Given the description of an element on the screen output the (x, y) to click on. 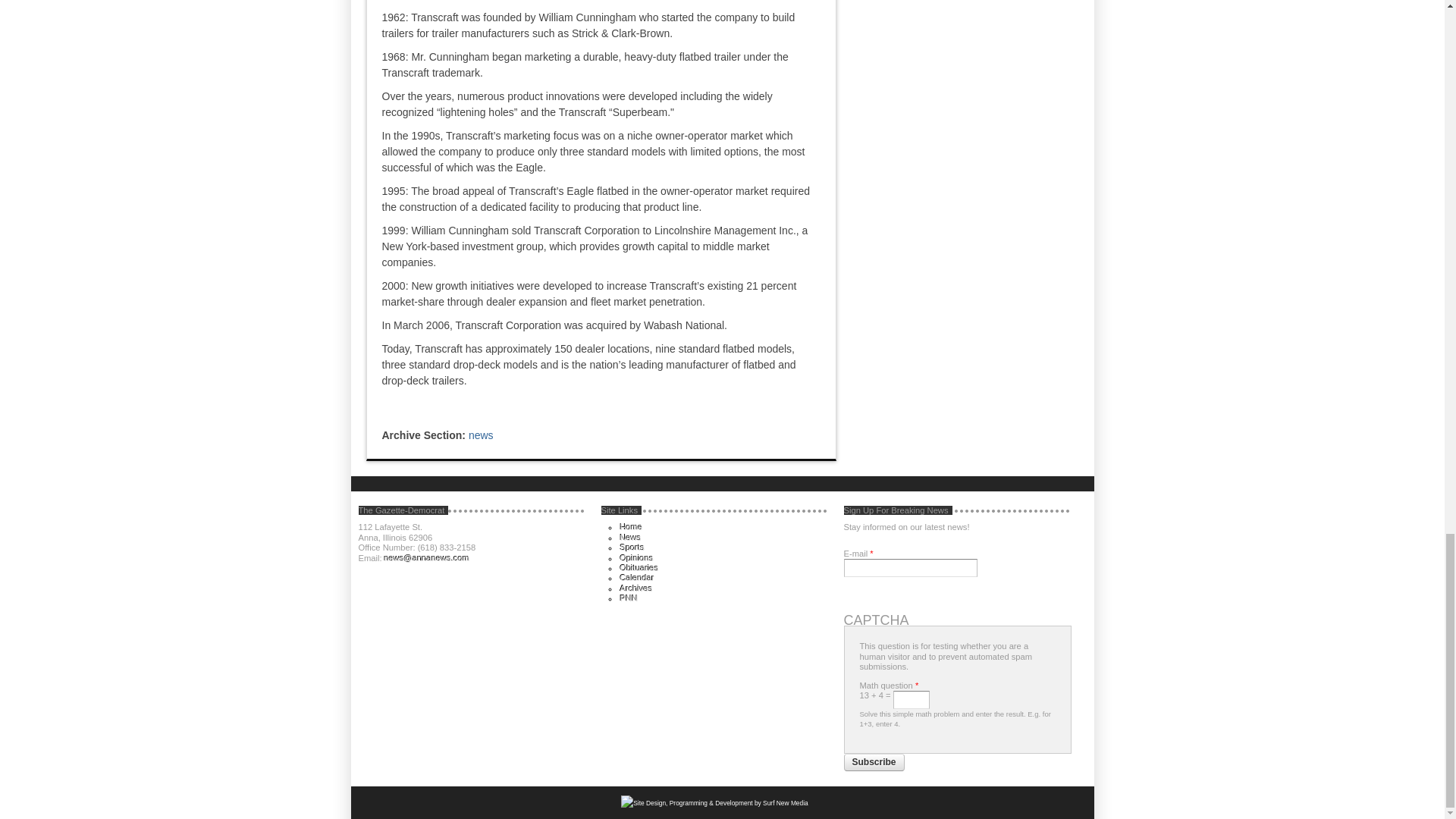
News (631, 537)
Sports (632, 547)
Obituaries (639, 567)
Subscribe (873, 762)
Opinions (636, 556)
Subscribe (873, 762)
Archives (636, 587)
Opinions (636, 556)
Obituaries (639, 567)
Sports (632, 547)
